Given the description of an element on the screen output the (x, y) to click on. 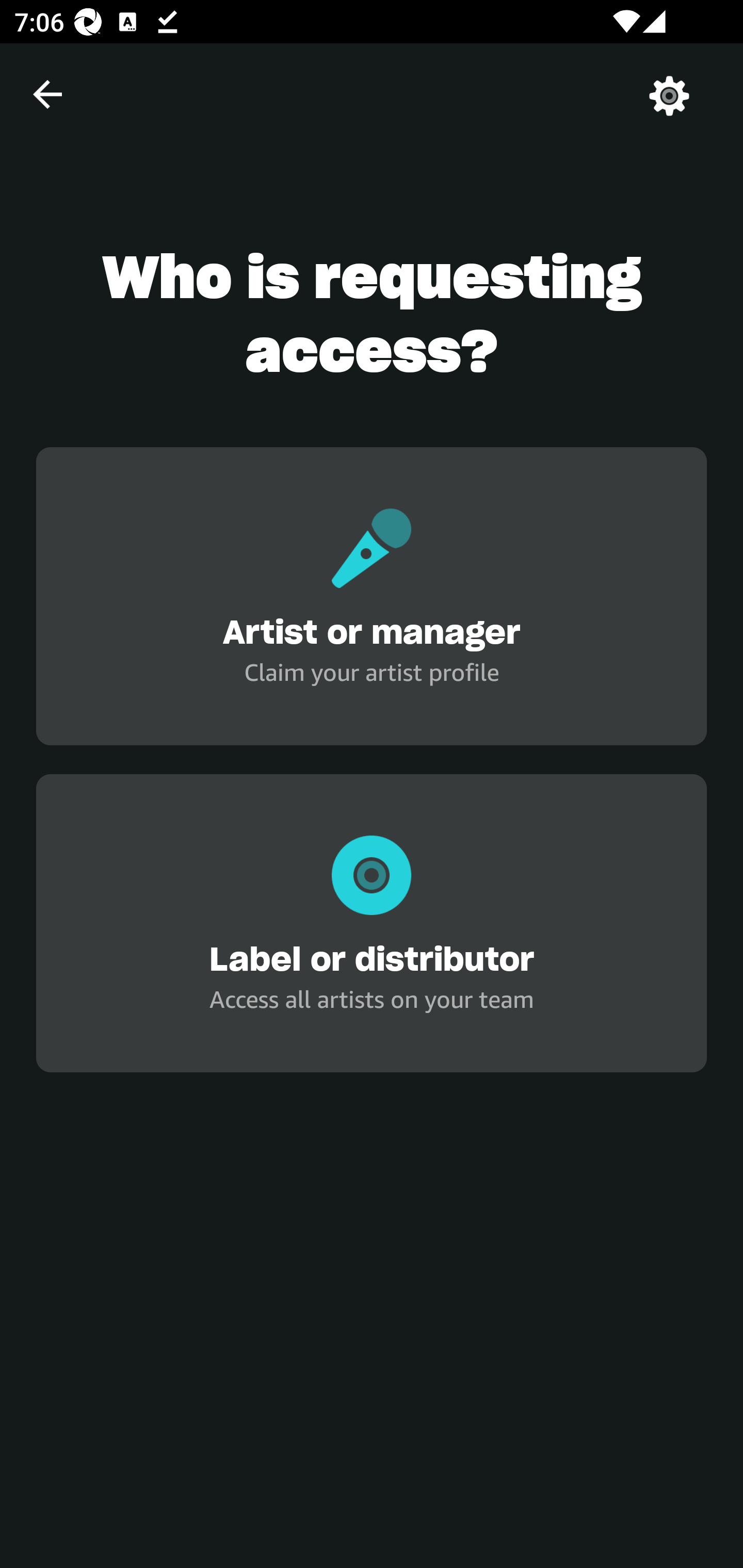
ArtistSelect, back (47, 93)
